Given the description of an element on the screen output the (x, y) to click on. 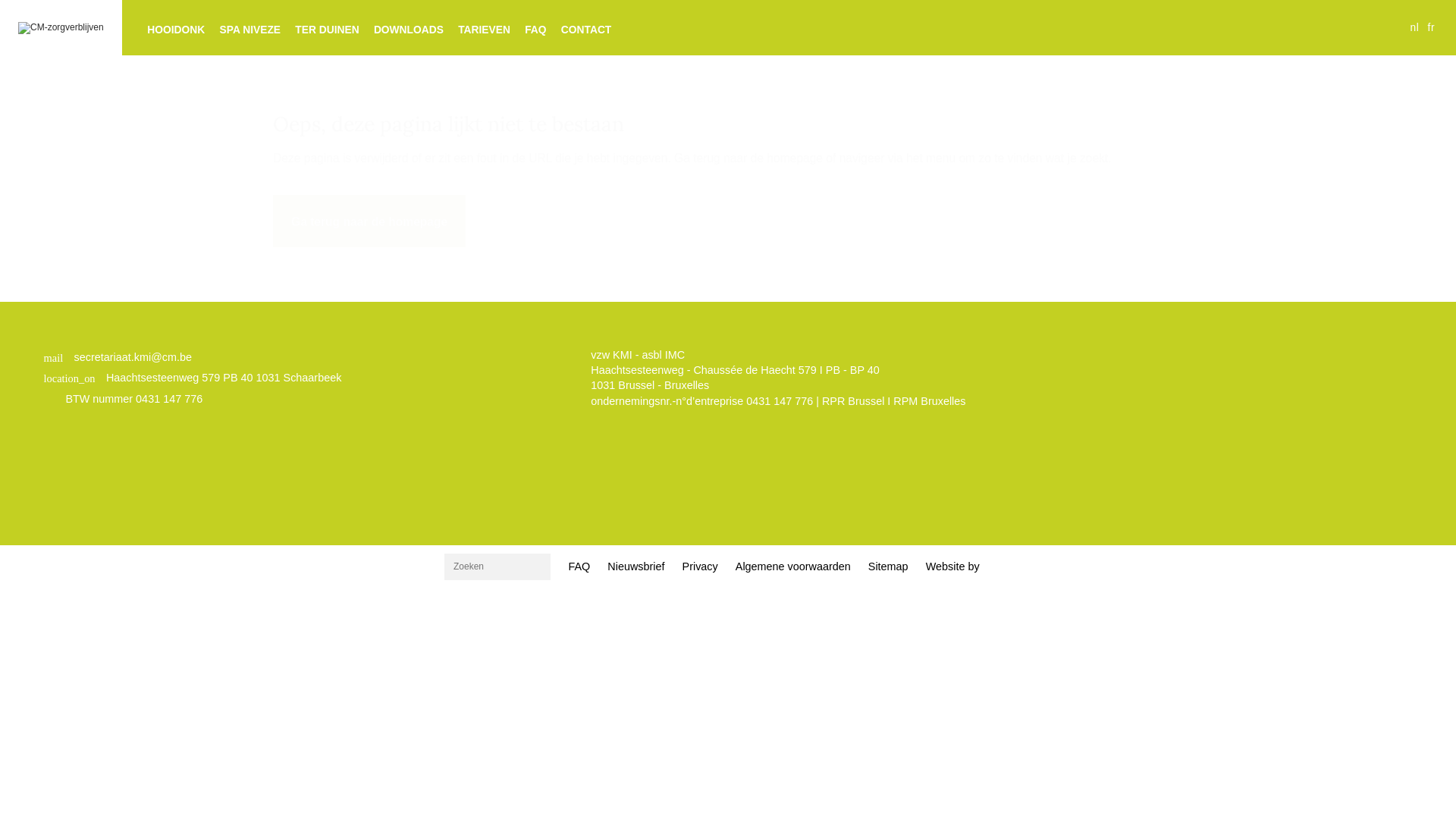
Nieuwsbrief Element type: text (636, 566)
Privacy Element type: text (699, 566)
Website by Element type: text (952, 566)
privacy policy Element type: text (760, 415)
mail
secretariaat.kmi@cm.be Element type: text (192, 357)
x Element type: text (743, 424)
Webhero Element type: hover (997, 566)
nl Element type: text (1413, 27)
FAQ Element type: text (535, 30)
CONTACT Element type: text (585, 30)
FAQ Element type: text (579, 566)
Algemene voorwaarden Element type: text (792, 566)
Sitemap Element type: text (887, 566)
CM-zorgverblijven Element type: hover (60, 27)
Ga terug naar de homepage Element type: text (369, 220)
DOWNLOADS Element type: text (408, 30)
fr Element type: text (1430, 27)
location_on
Haachtsesteenweg 579 PB 40 1031 Schaarbeek Element type: text (192, 377)
